Given the description of an element on the screen output the (x, y) to click on. 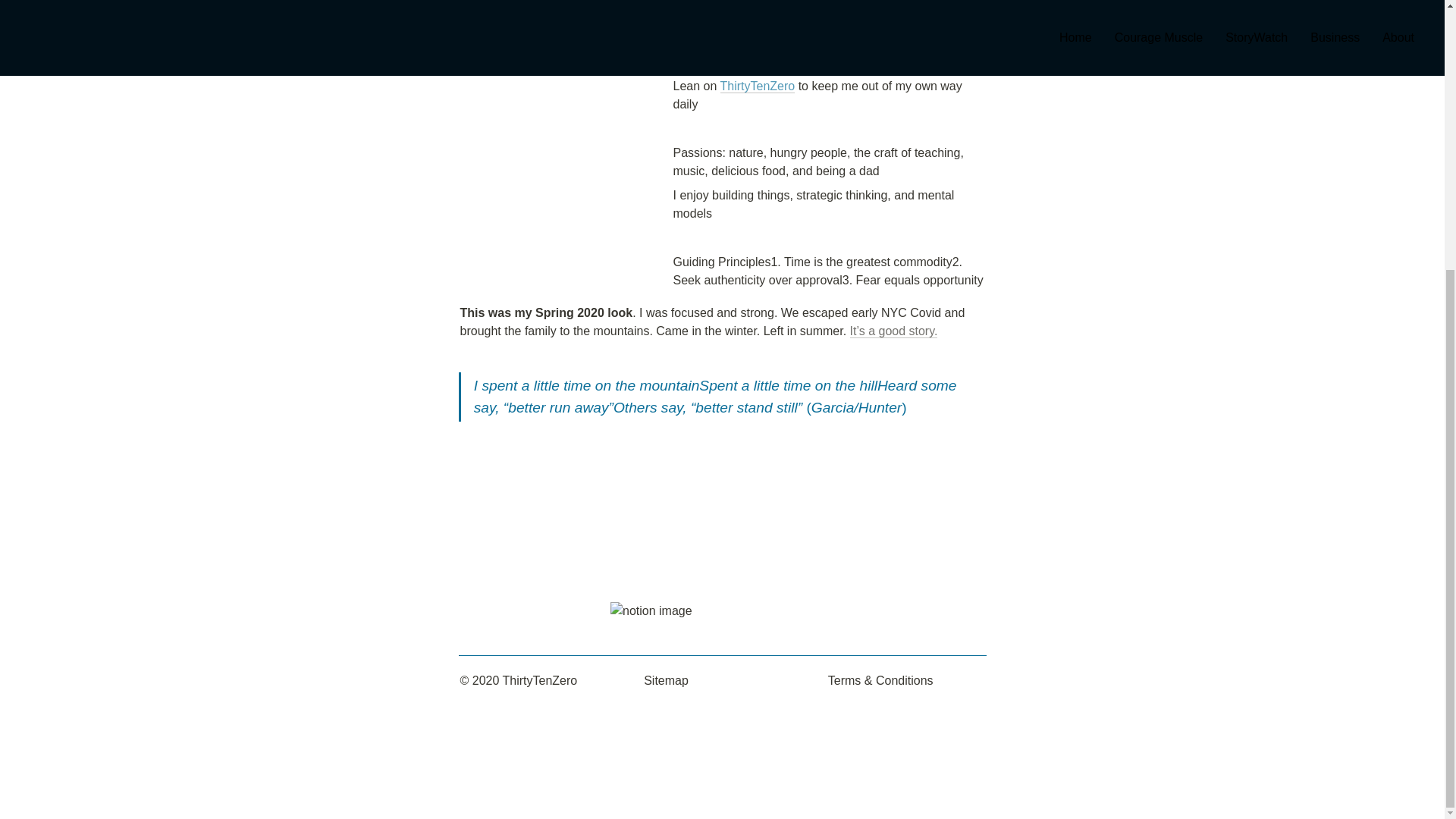
Transcending Stuttering (874, 38)
ThirtyTenZero (757, 86)
StoryWatch (753, 38)
